Given the description of an element on the screen output the (x, y) to click on. 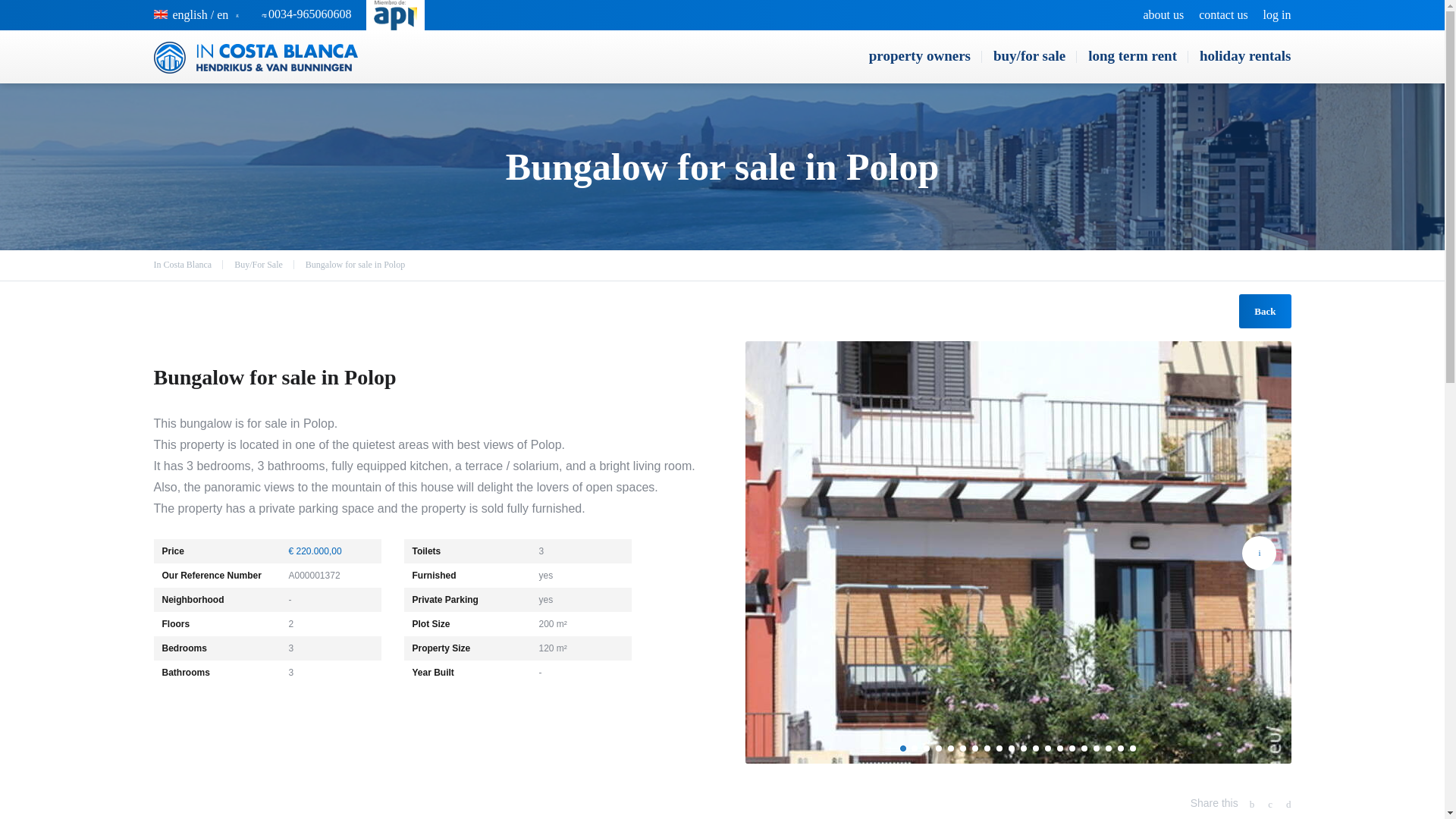
holiday rentals (1239, 56)
Property owners, sell or let your property your self (919, 56)
0034-965060608 (308, 13)
log in (1277, 15)
long term rent (1132, 56)
contact us (1222, 15)
about us (1162, 15)
property owners (919, 56)
